Given the description of an element on the screen output the (x, y) to click on. 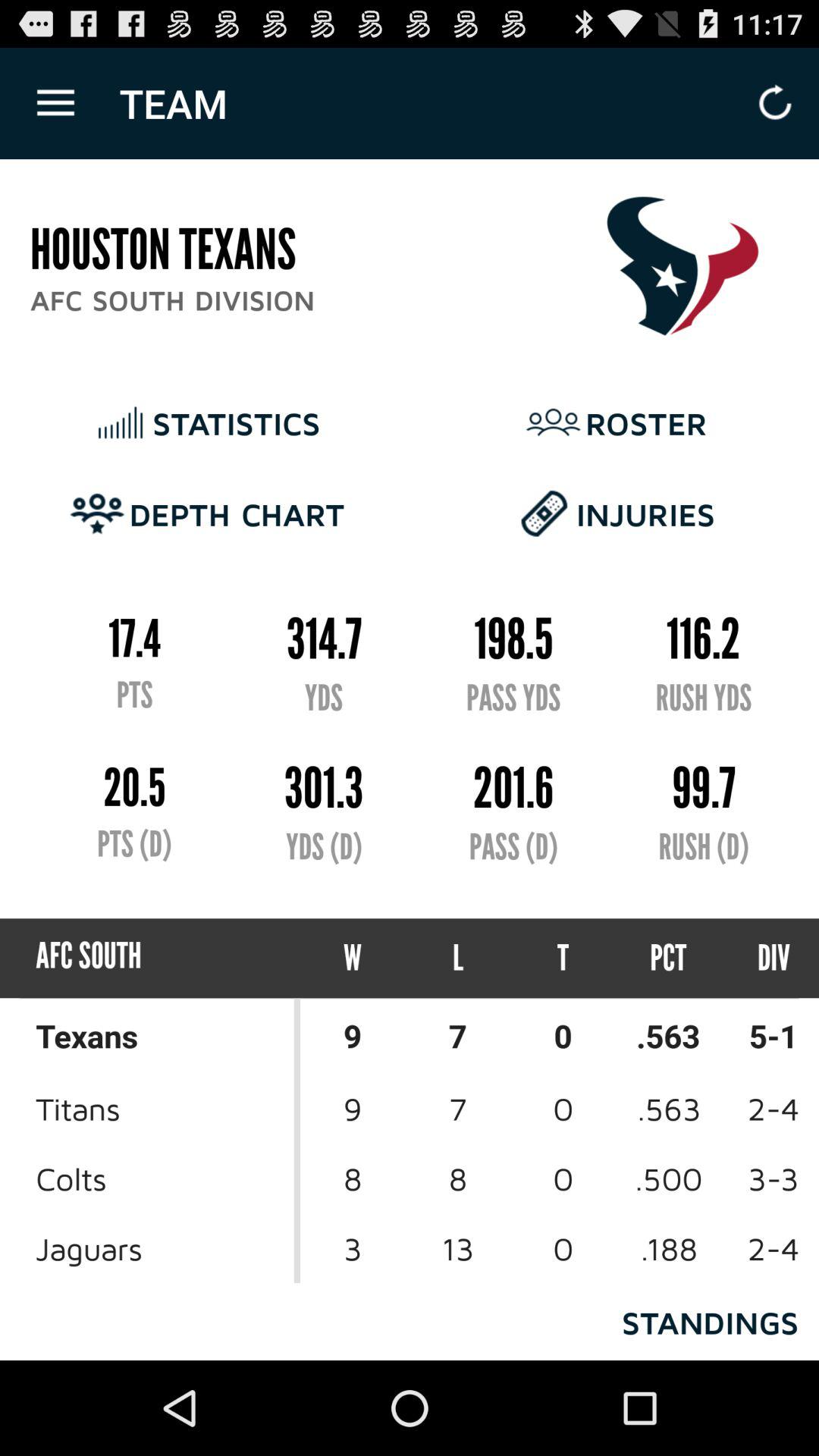
press the app next to the team icon (55, 103)
